Given the description of an element on the screen output the (x, y) to click on. 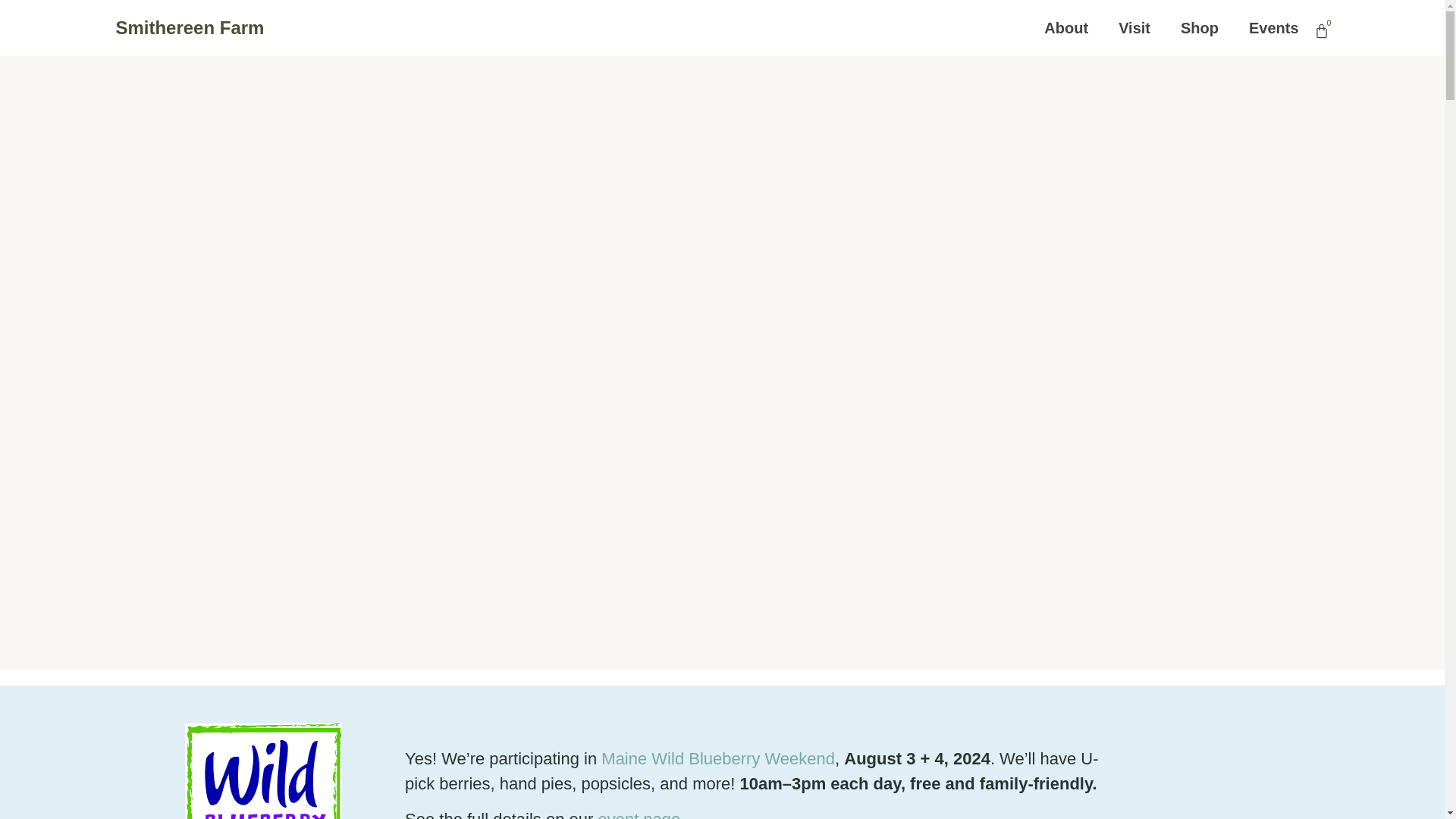
Maine Wild Blueberry Weekend (717, 758)
Visit (1134, 27)
Events (1273, 27)
event page (637, 814)
Shop (1199, 27)
Smithereen Farm (189, 27)
About (1065, 27)
